Given the description of an element on the screen output the (x, y) to click on. 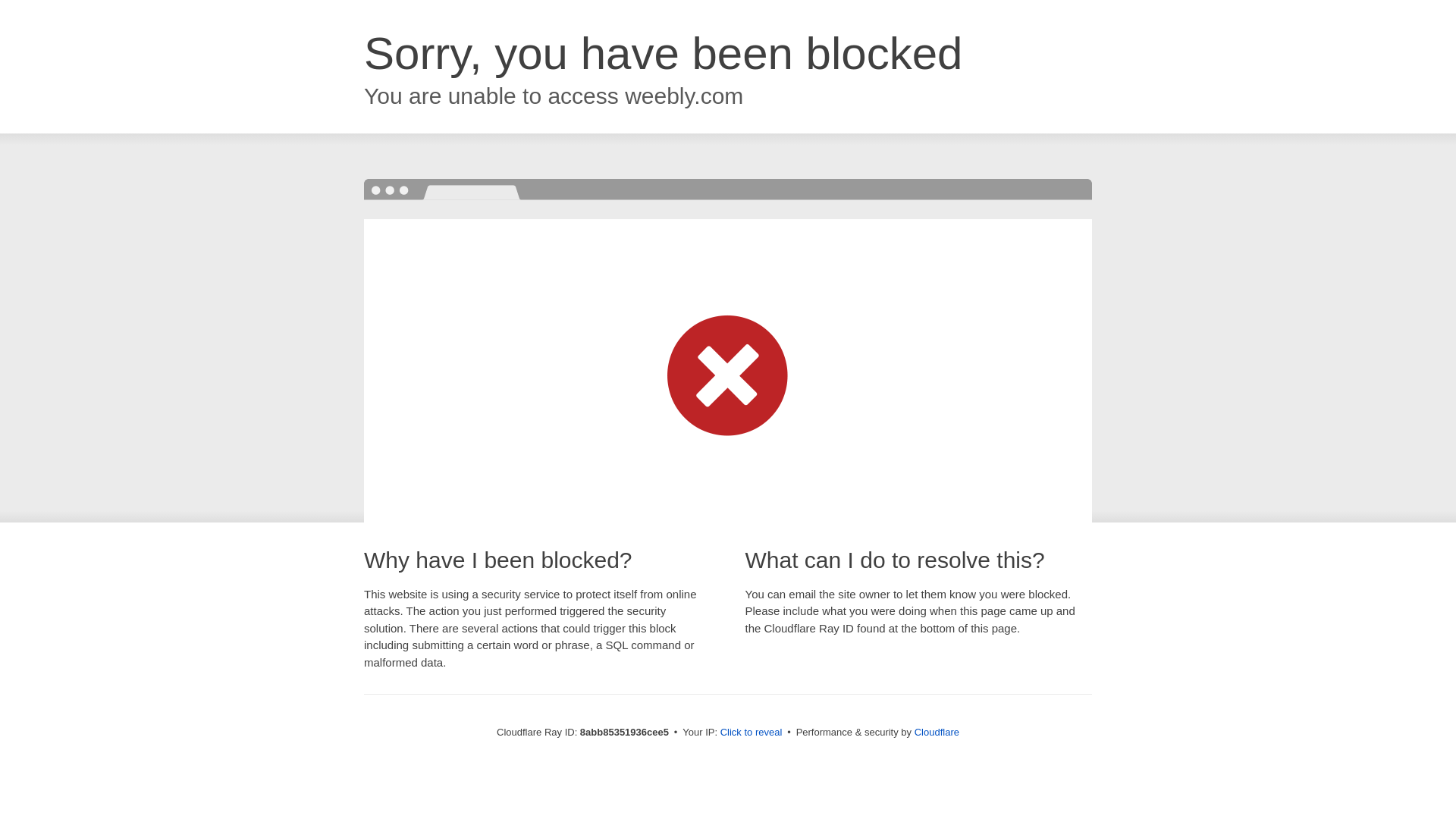
Cloudflare (936, 731)
Click to reveal (751, 732)
